Given the description of an element on the screen output the (x, y) to click on. 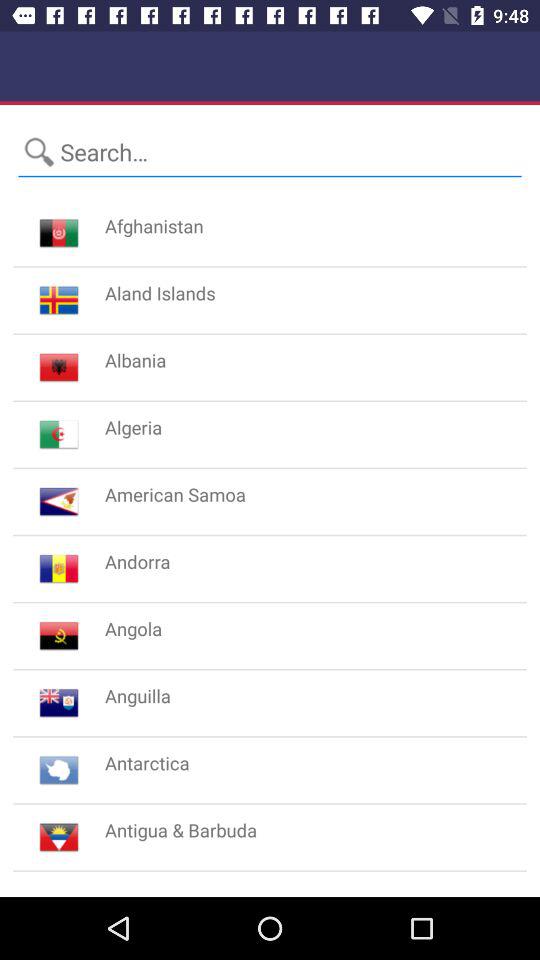
enter text to search (269, 152)
